Given the description of an element on the screen output the (x, y) to click on. 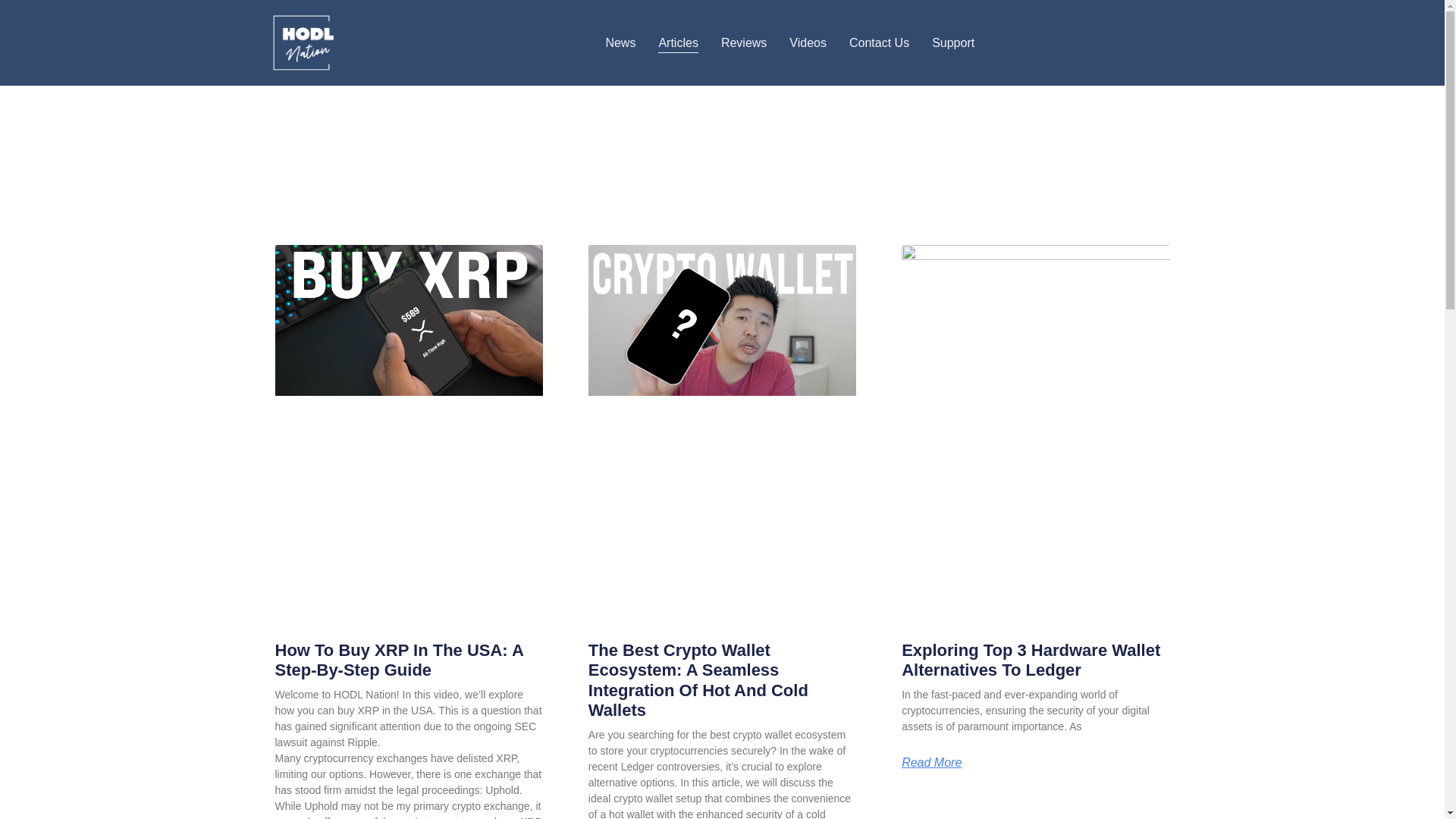
Exploring Top 3 Hardware Wallet Alternatives To Ledger (1030, 659)
Articles (677, 43)
Reviews (743, 43)
How To Buy XRP In The USA: A Step-By-Step Guide (398, 659)
Videos (808, 43)
Read More (930, 762)
Support (952, 43)
Contact Us (878, 43)
News (619, 43)
